Given the description of an element on the screen output the (x, y) to click on. 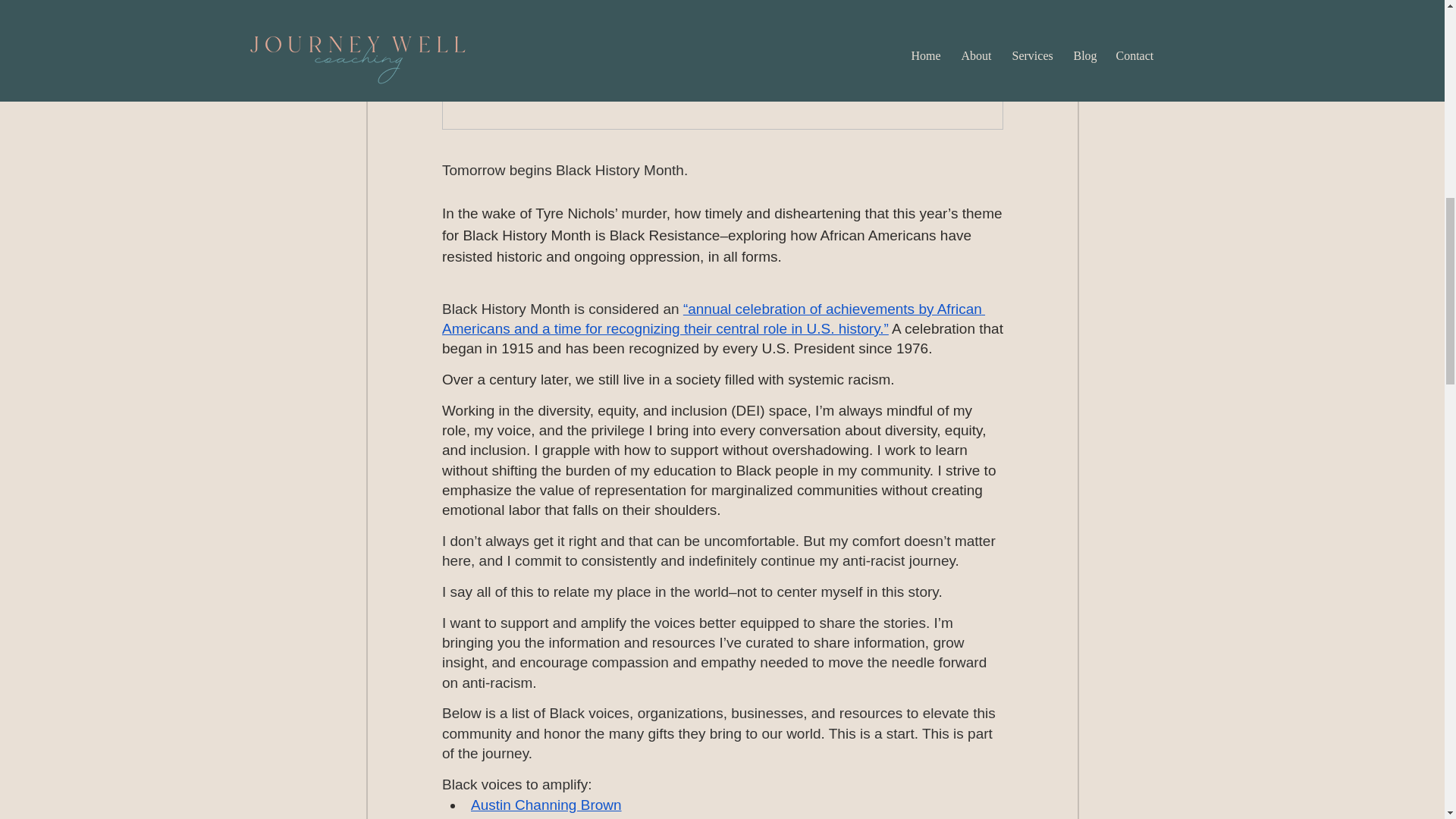
Austin Channing Brown (545, 804)
